Given the description of an element on the screen output the (x, y) to click on. 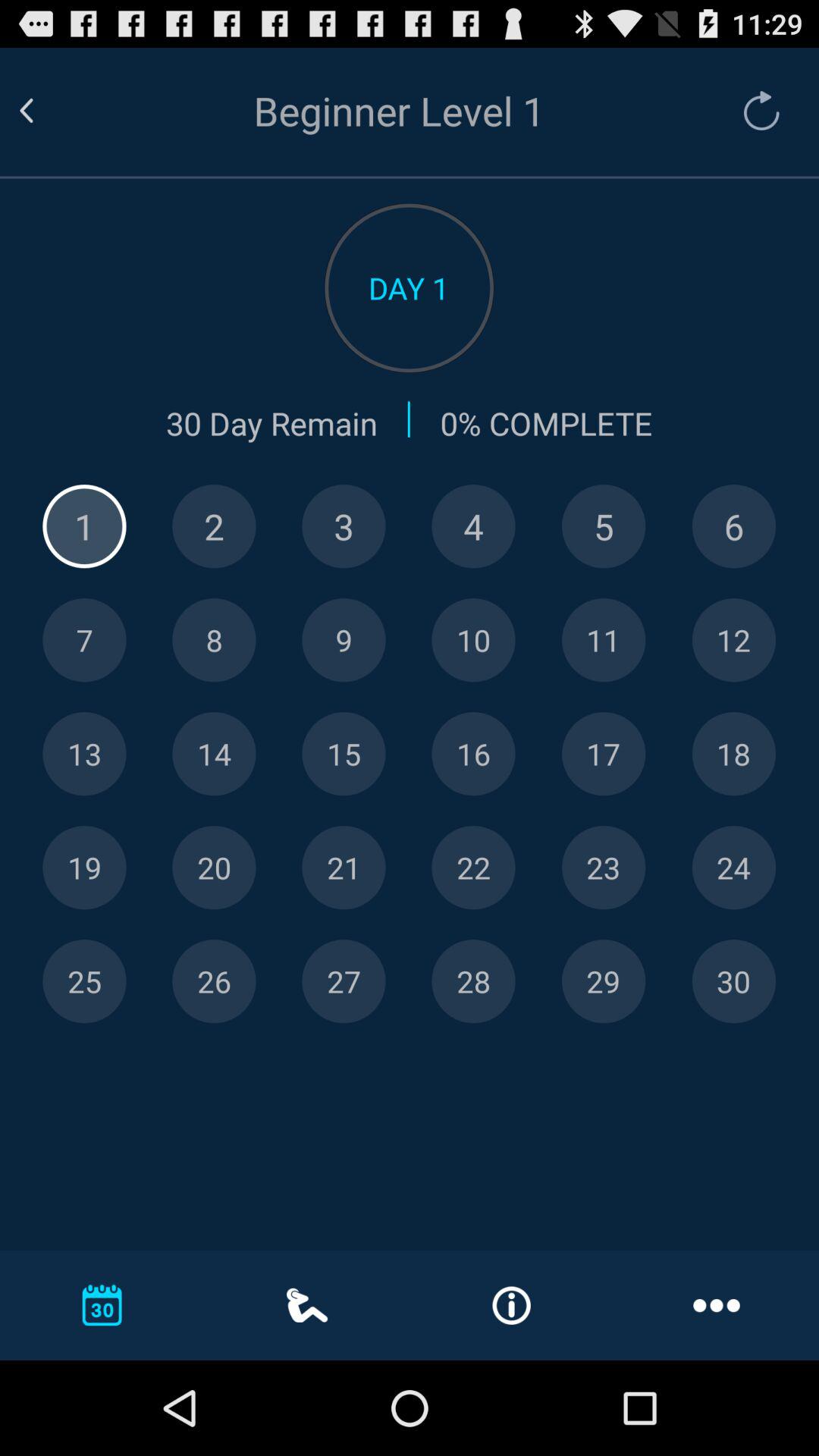
pick 16th (473, 753)
